Given the description of an element on the screen output the (x, y) to click on. 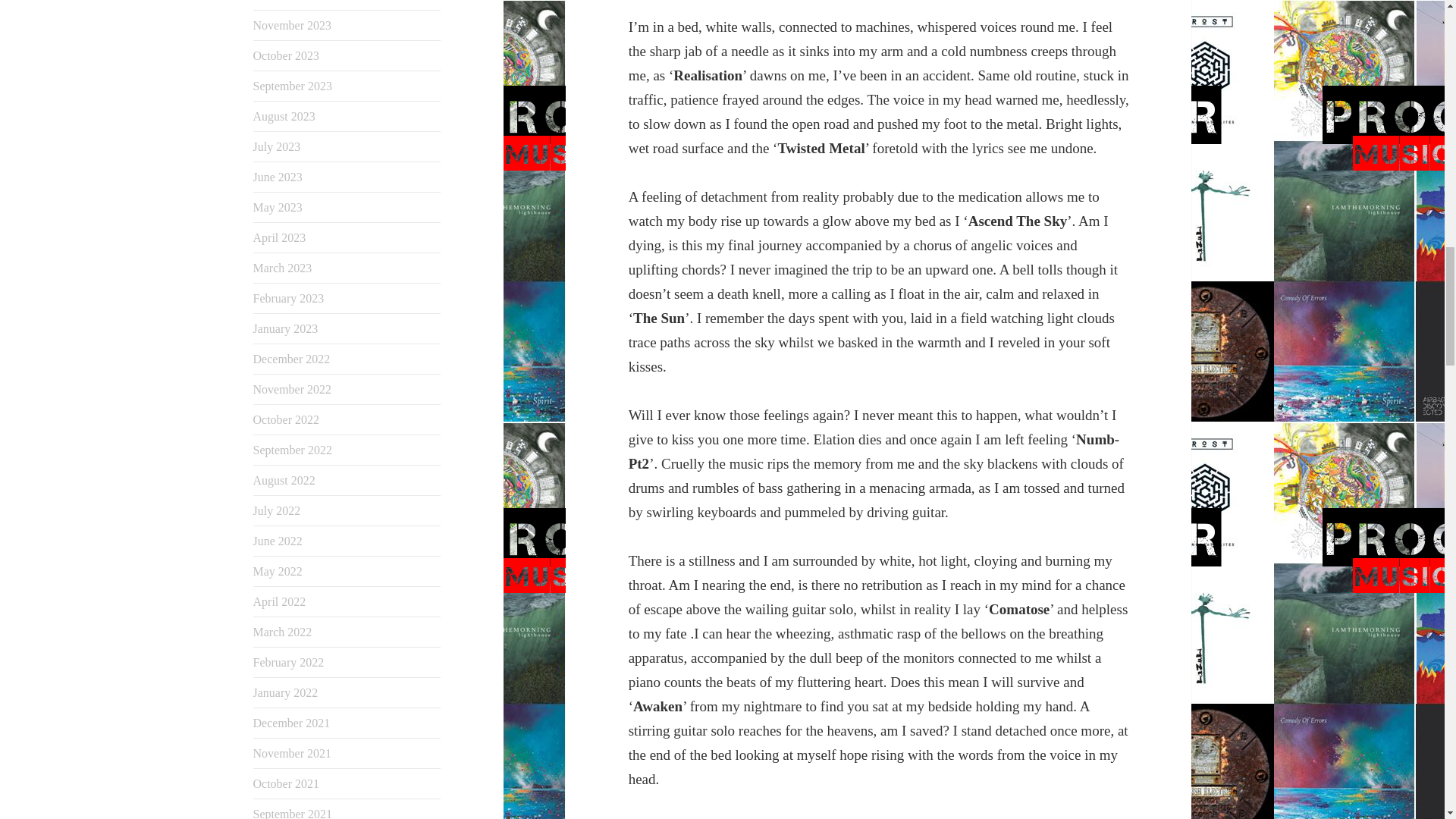
November 2023 (292, 24)
July 2023 (277, 146)
June 2023 (277, 176)
March 2023 (283, 267)
November 2022 (292, 389)
January 2023 (285, 328)
December 2023 (291, 0)
October 2023 (286, 55)
February 2023 (288, 297)
September 2023 (292, 85)
October 2022 (286, 419)
May 2023 (277, 206)
December 2022 (291, 358)
August 2023 (284, 115)
September 2022 (292, 449)
